Given the description of an element on the screen output the (x, y) to click on. 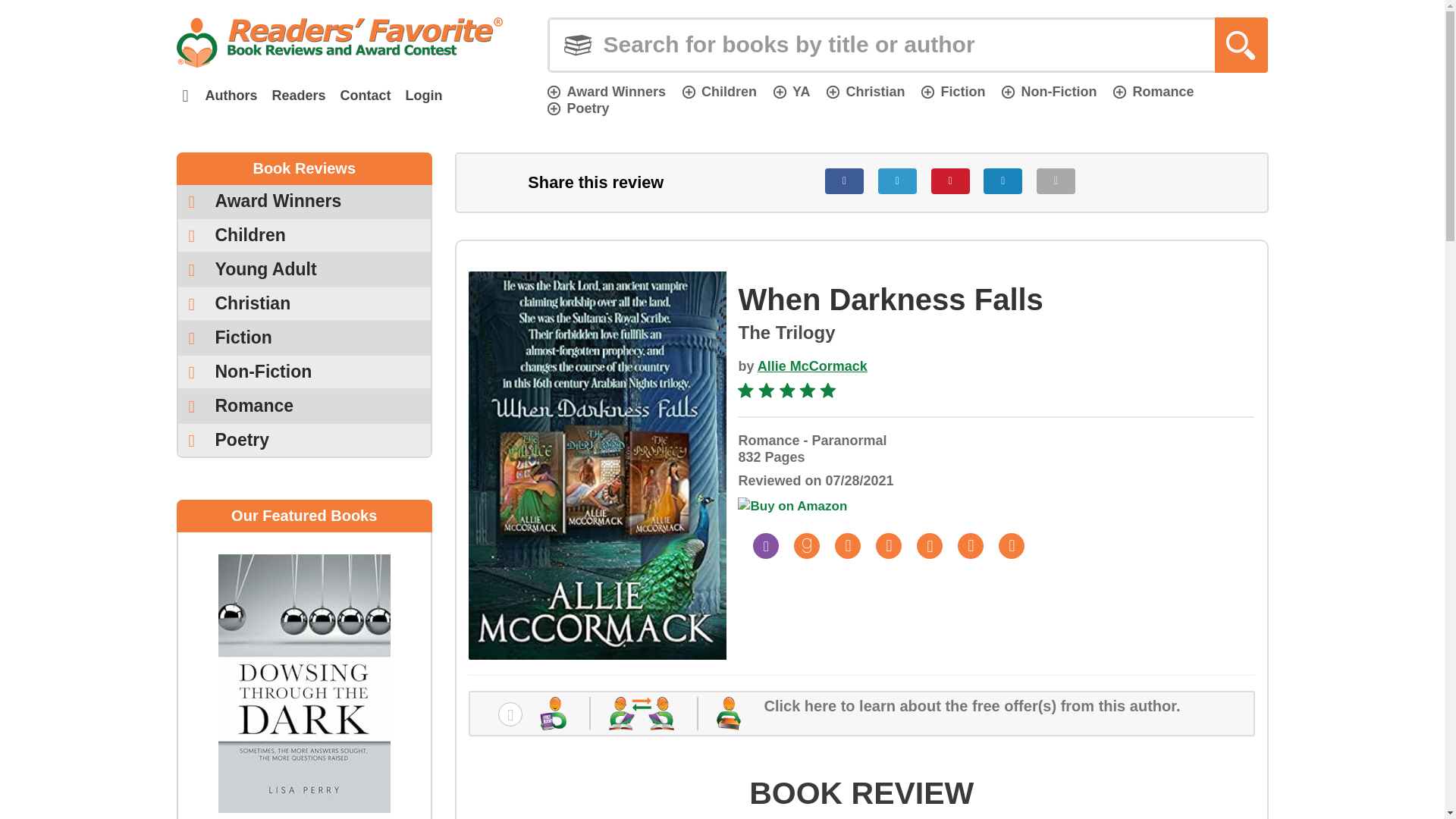
Readers (297, 96)
Poetry (577, 108)
Award Winners (606, 91)
Contact (365, 96)
YA (791, 91)
Fiction (953, 91)
Authors (230, 96)
Readers' Favorite (339, 42)
Christian (865, 91)
Login (423, 96)
